Given the description of an element on the screen output the (x, y) to click on. 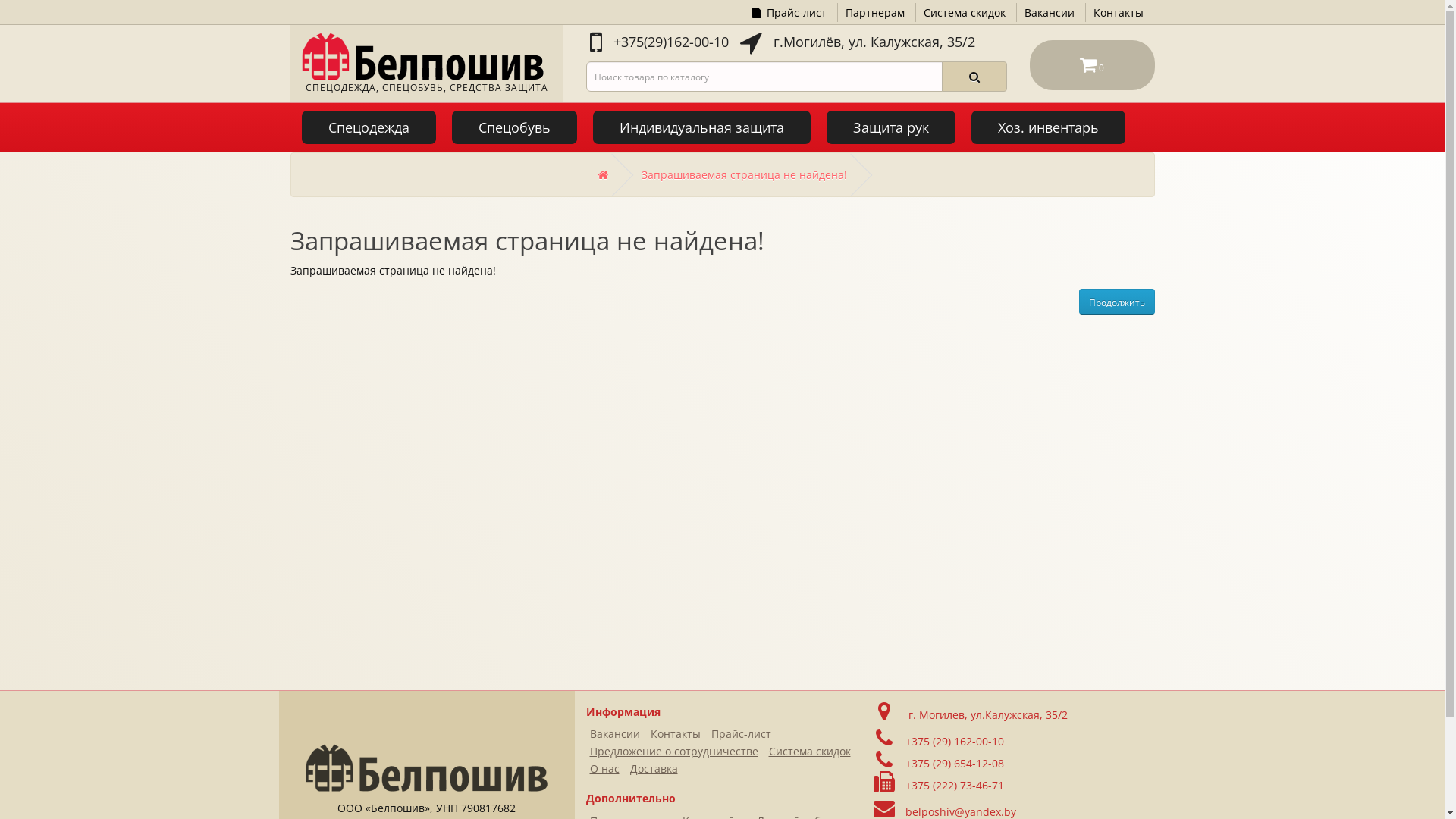
+375 (29) 654-12-08 Element type: text (950, 763)
+375 (29) 162-00-10 Element type: text (950, 741)
+375(29)162-00-10 Element type: text (662, 46)
+375 (222) 73-46-71 Element type: text (950, 785)
0 Element type: text (1091, 65)
